Given the description of an element on the screen output the (x, y) to click on. 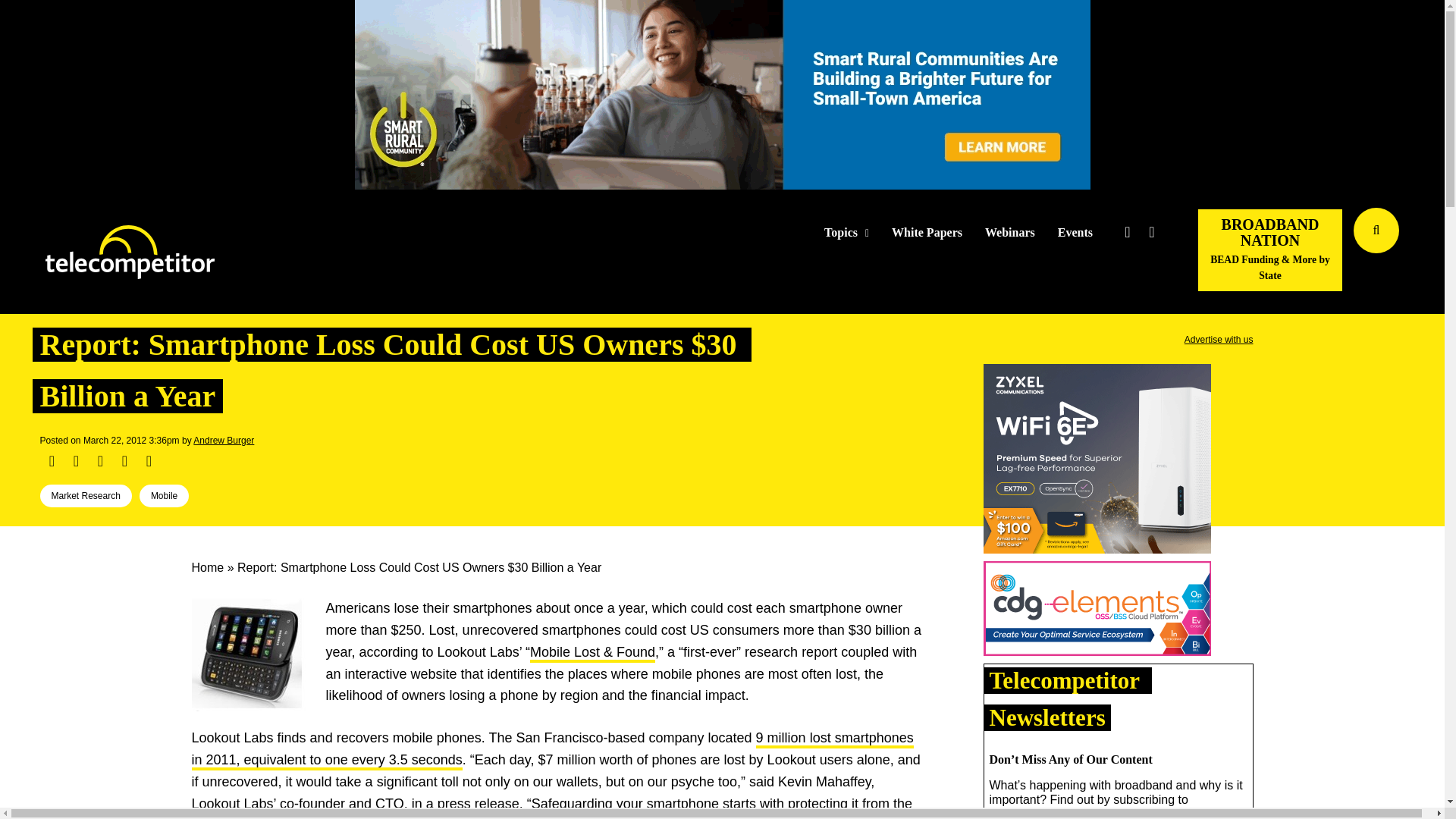
Zyxel Switches (1095, 461)
White Papers (927, 232)
Events (1074, 232)
CDG elements (1095, 611)
Topics (846, 232)
Search telecompetitor.com (1376, 230)
Spread the word on Twitter (75, 460)
Pinterest (124, 460)
smartphone (247, 654)
Share on Linked In (99, 460)
Webinars (1010, 232)
Share on Facebook (51, 460)
Follow Us on Twitter (1127, 232)
Follow Us on LinkedIN (1151, 232)
